Given the description of an element on the screen output the (x, y) to click on. 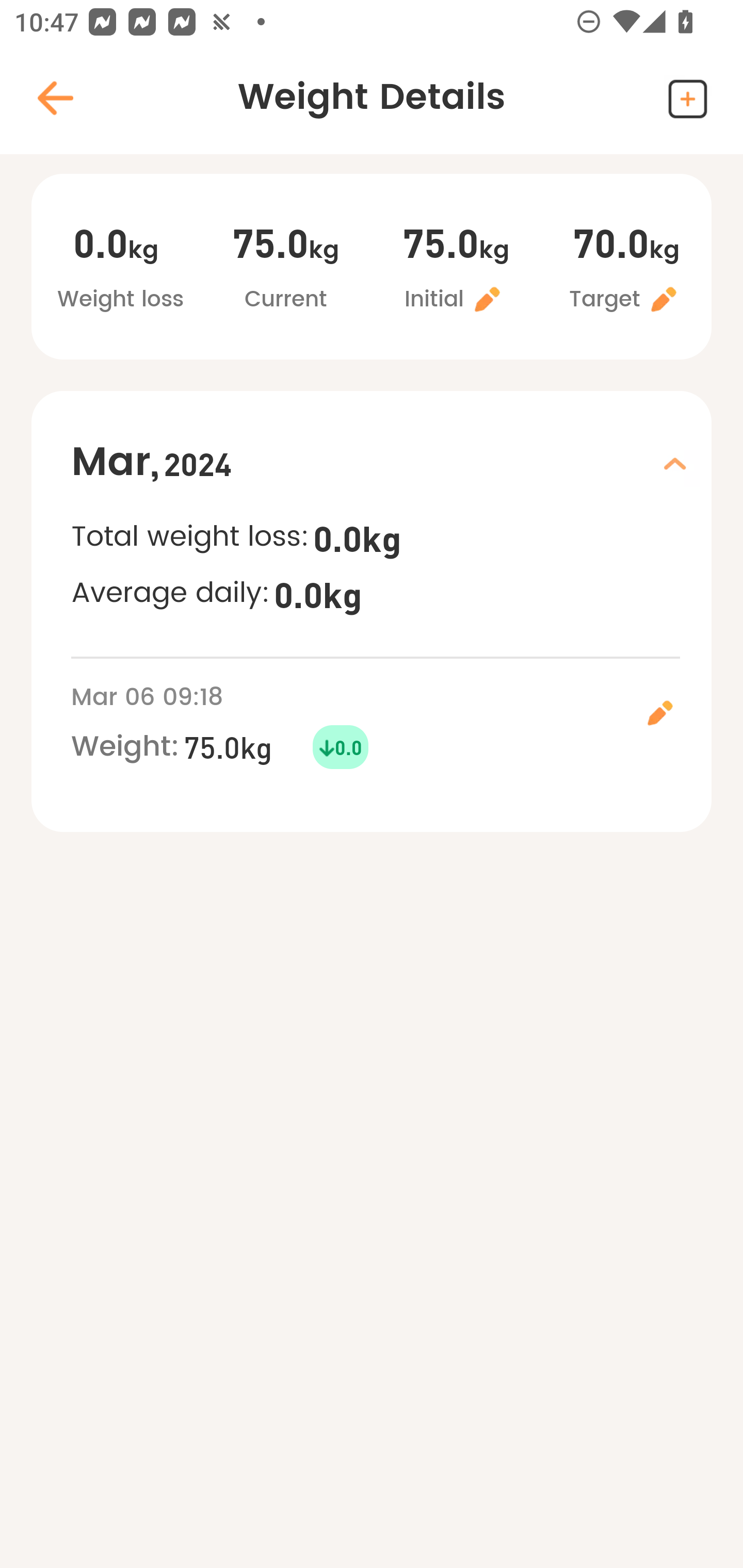
75.0kg Initial (455, 268)
70.0kg Target (625, 268)
Mar 06 09:18 Weight: 75.0kg 0.0 (391, 723)
